Given the description of an element on the screen output the (x, y) to click on. 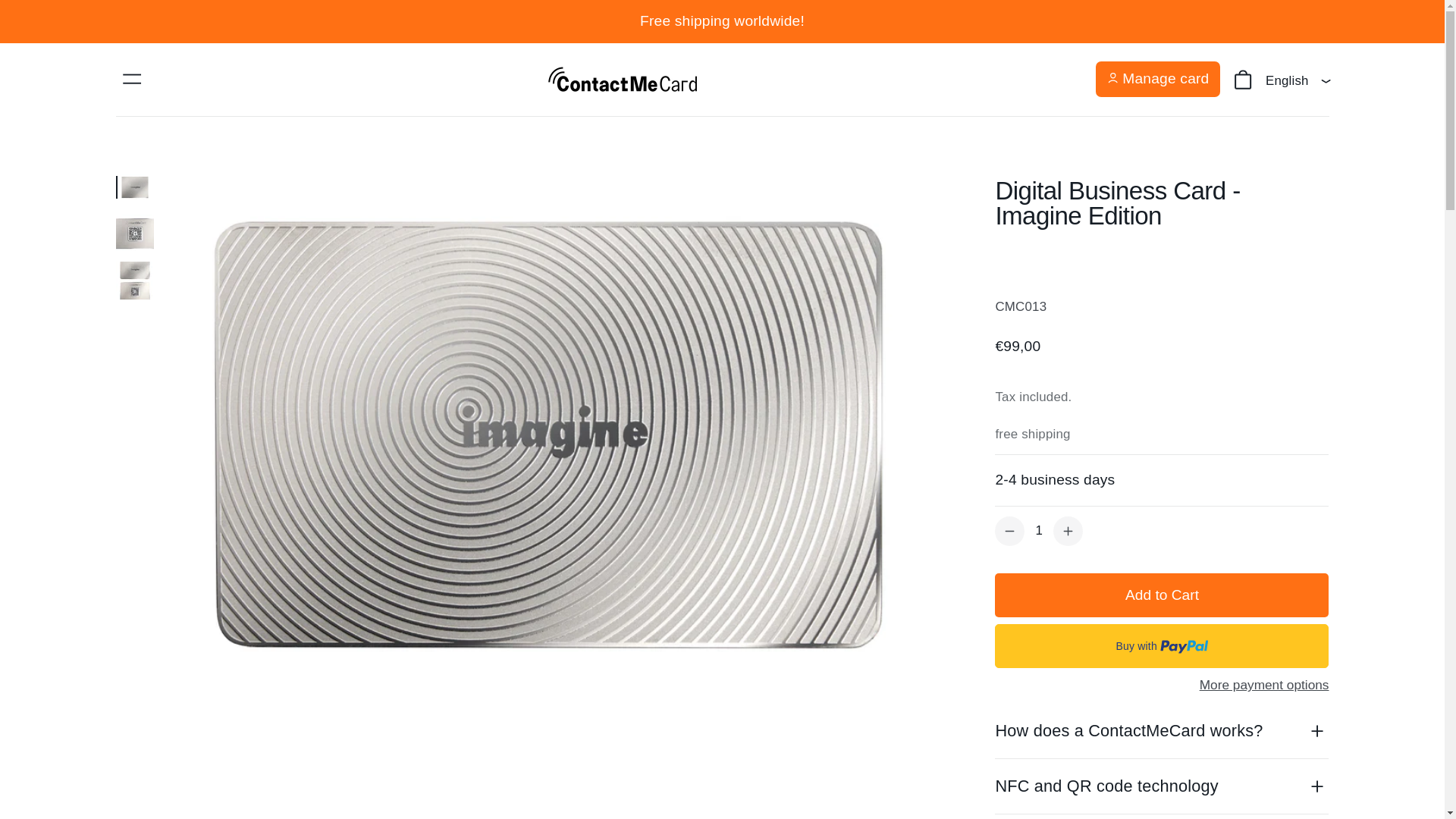
Manage card (1158, 79)
1 (1038, 530)
Home (156, 96)
ContactMeCard (156, 96)
